Given the description of an element on the screen output the (x, y) to click on. 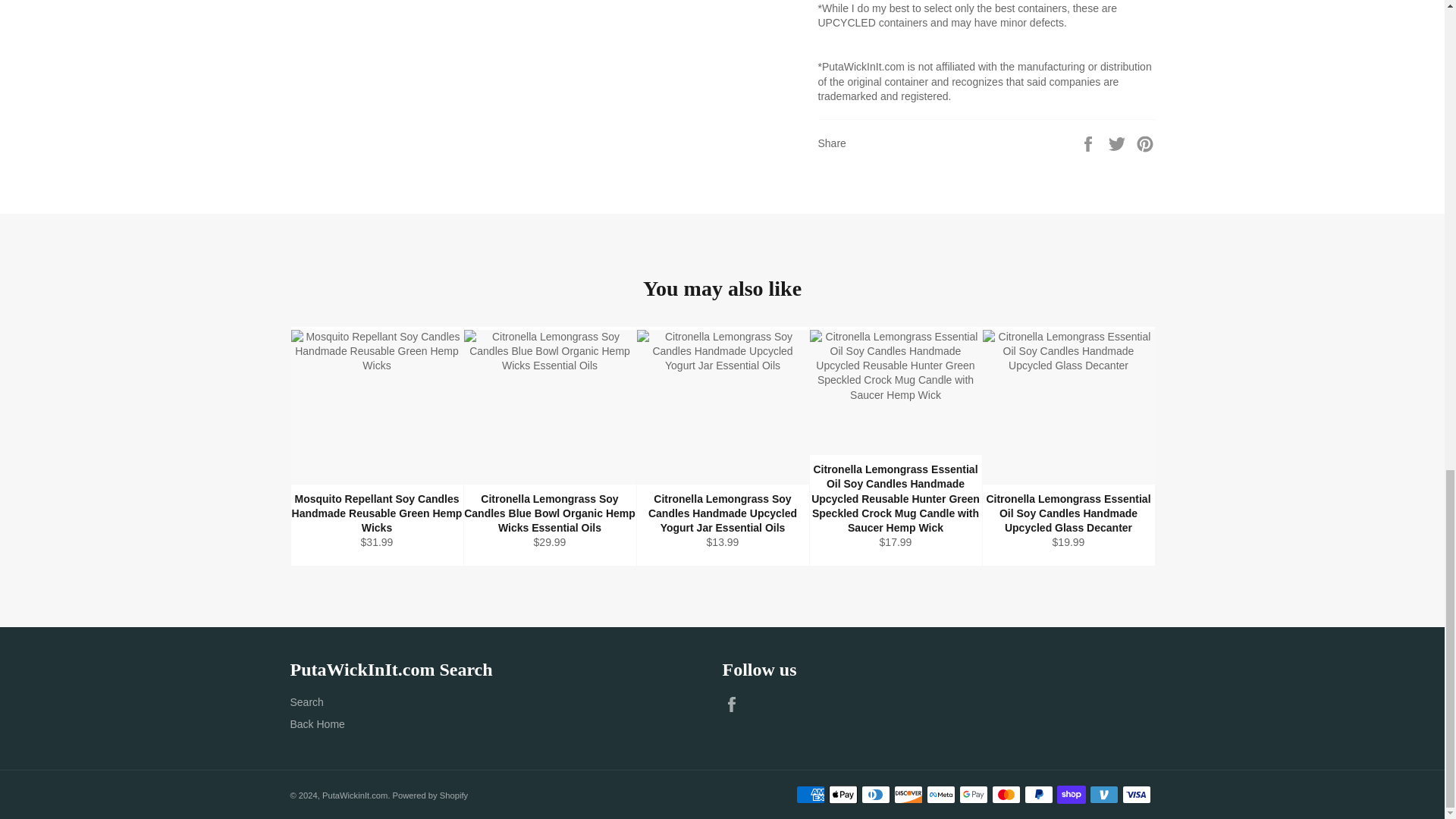
Pin on Pinterest (1144, 143)
PutaWickinIt.com on Facebook (735, 704)
Tweet on Twitter (1118, 143)
Share on Facebook (1089, 143)
